Given the description of an element on the screen output the (x, y) to click on. 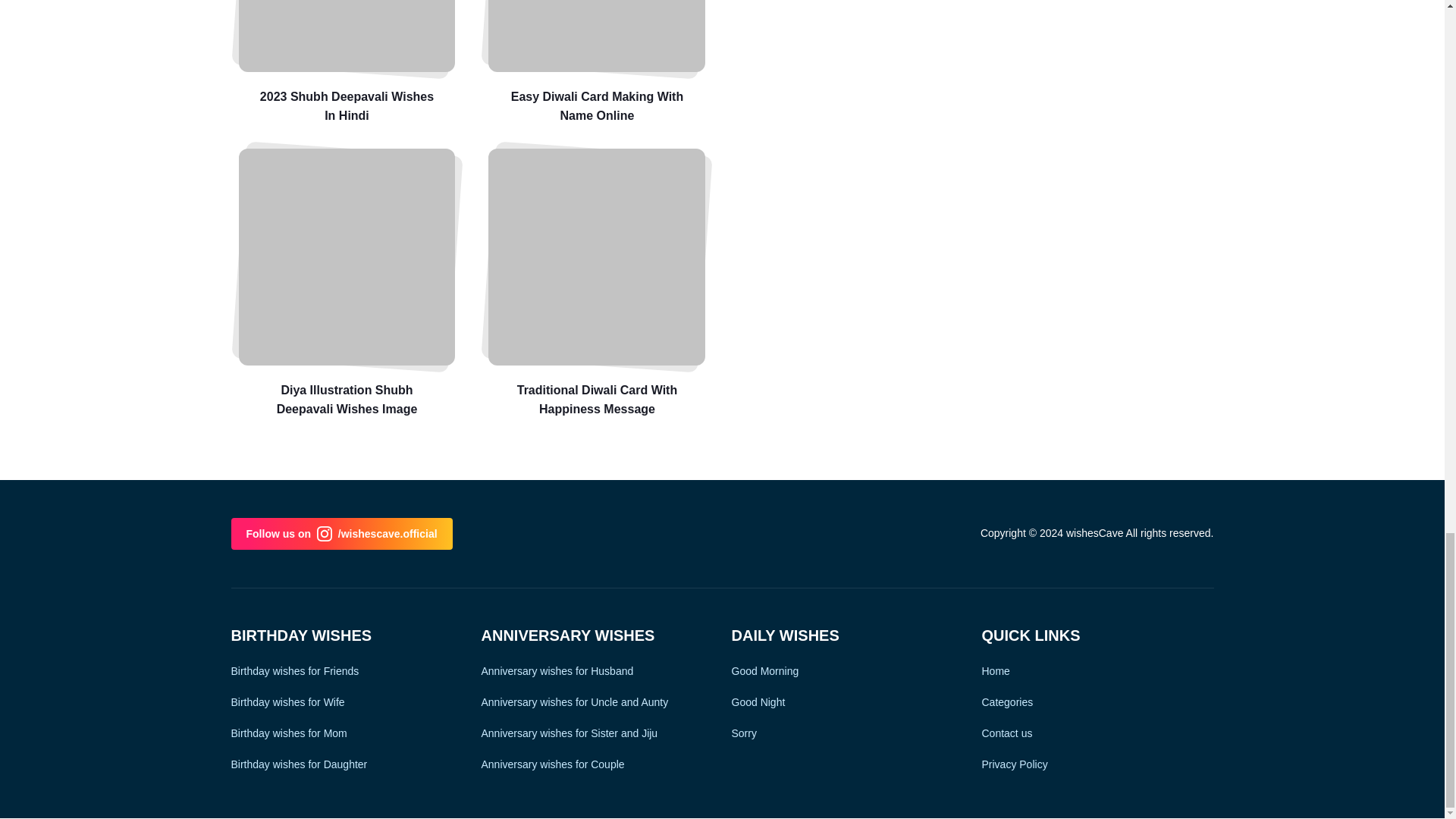
2023 Shubh Deepavali Wishes In Hindi (346, 36)
Easy Diwali Card Making With Name Online (595, 63)
Traditional Diwali Card With Happiness Message (595, 256)
2023 Shubh Deepavali Wishes In Hindi (346, 63)
Easy Diwali Card Making With Name Online (595, 36)
Diya Illustration Shubh Deepavali Wishes Image (346, 256)
